Given the description of an element on the screen output the (x, y) to click on. 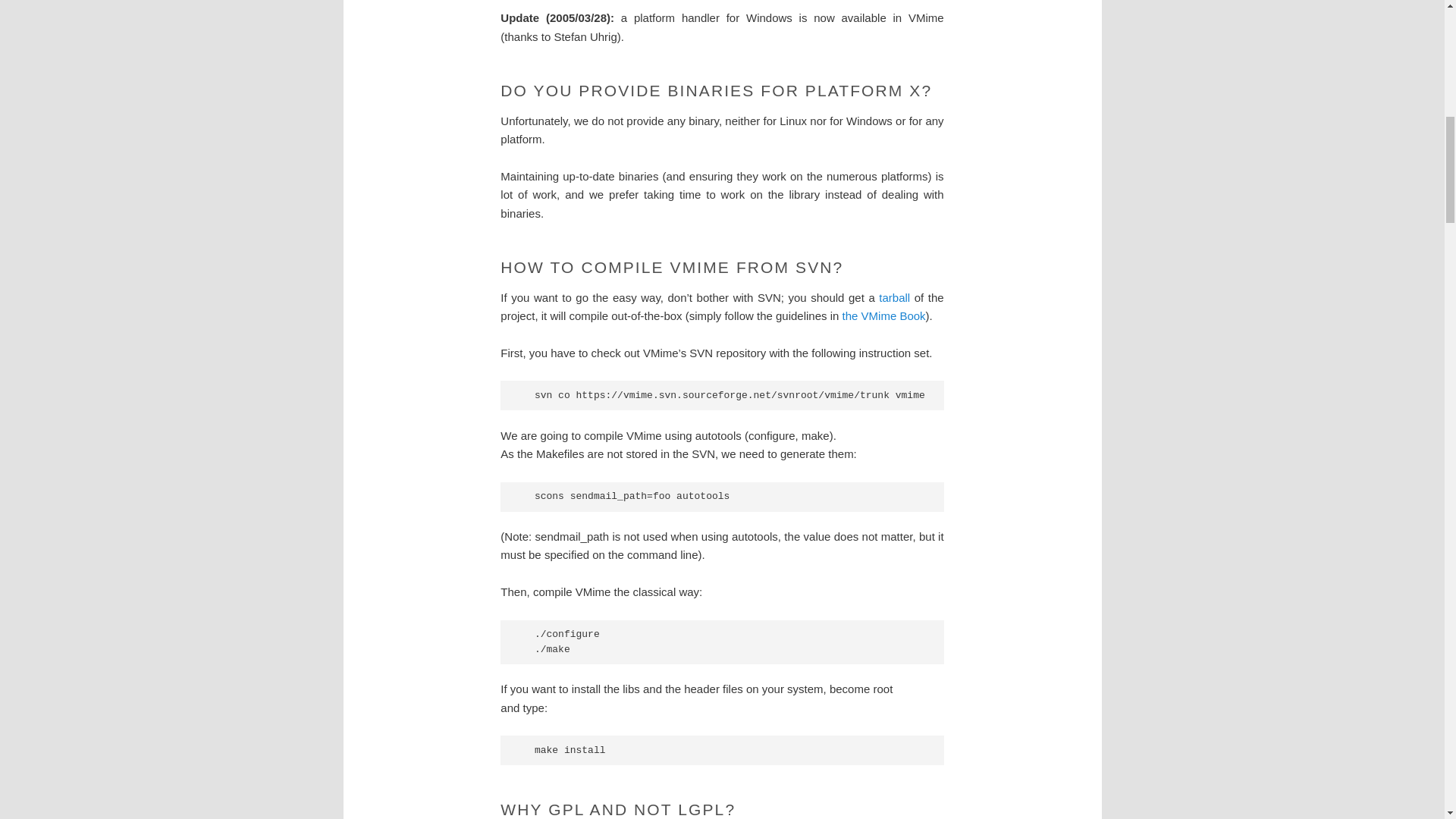
tarball (894, 297)
the VMime Book (884, 315)
